Given the description of an element on the screen output the (x, y) to click on. 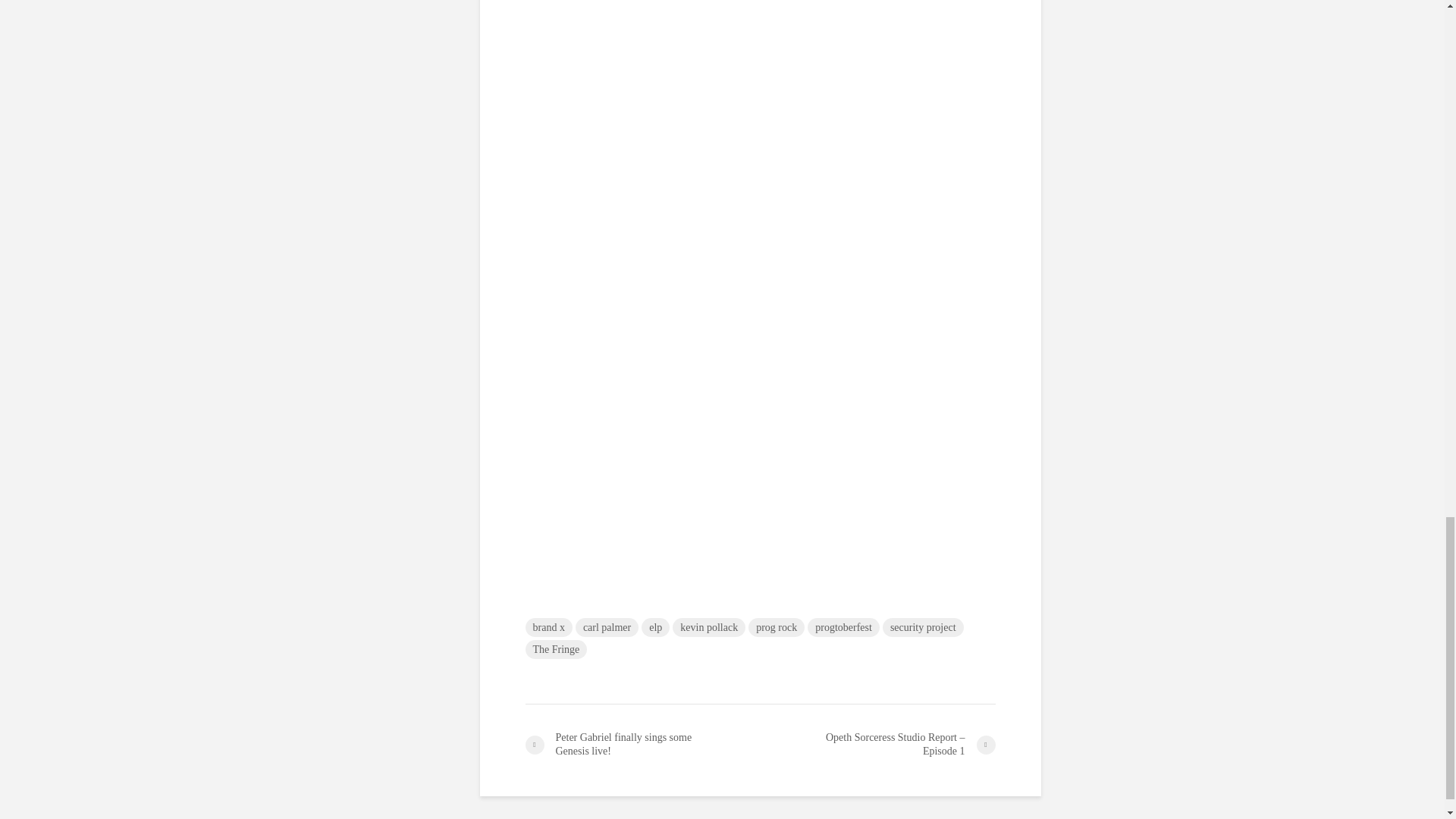
brand x (548, 627)
kevin pollack (708, 627)
elp (655, 627)
carl palmer (607, 627)
